Given the description of an element on the screen output the (x, y) to click on. 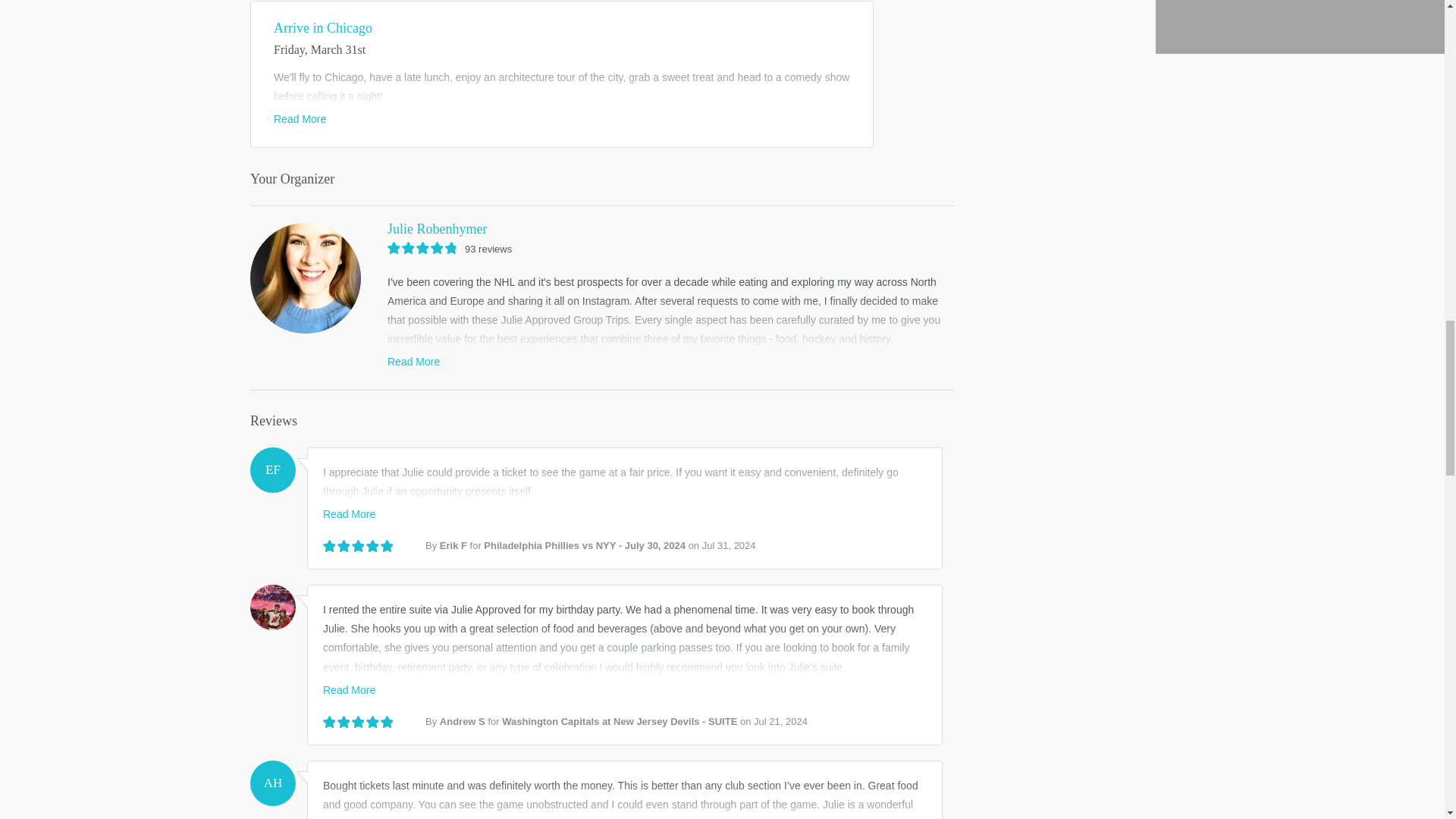
Read More (413, 361)
Read More (349, 689)
Read More (349, 513)
Julie Robenhymer (601, 228)
Read More (299, 118)
